Given the description of an element on the screen output the (x, y) to click on. 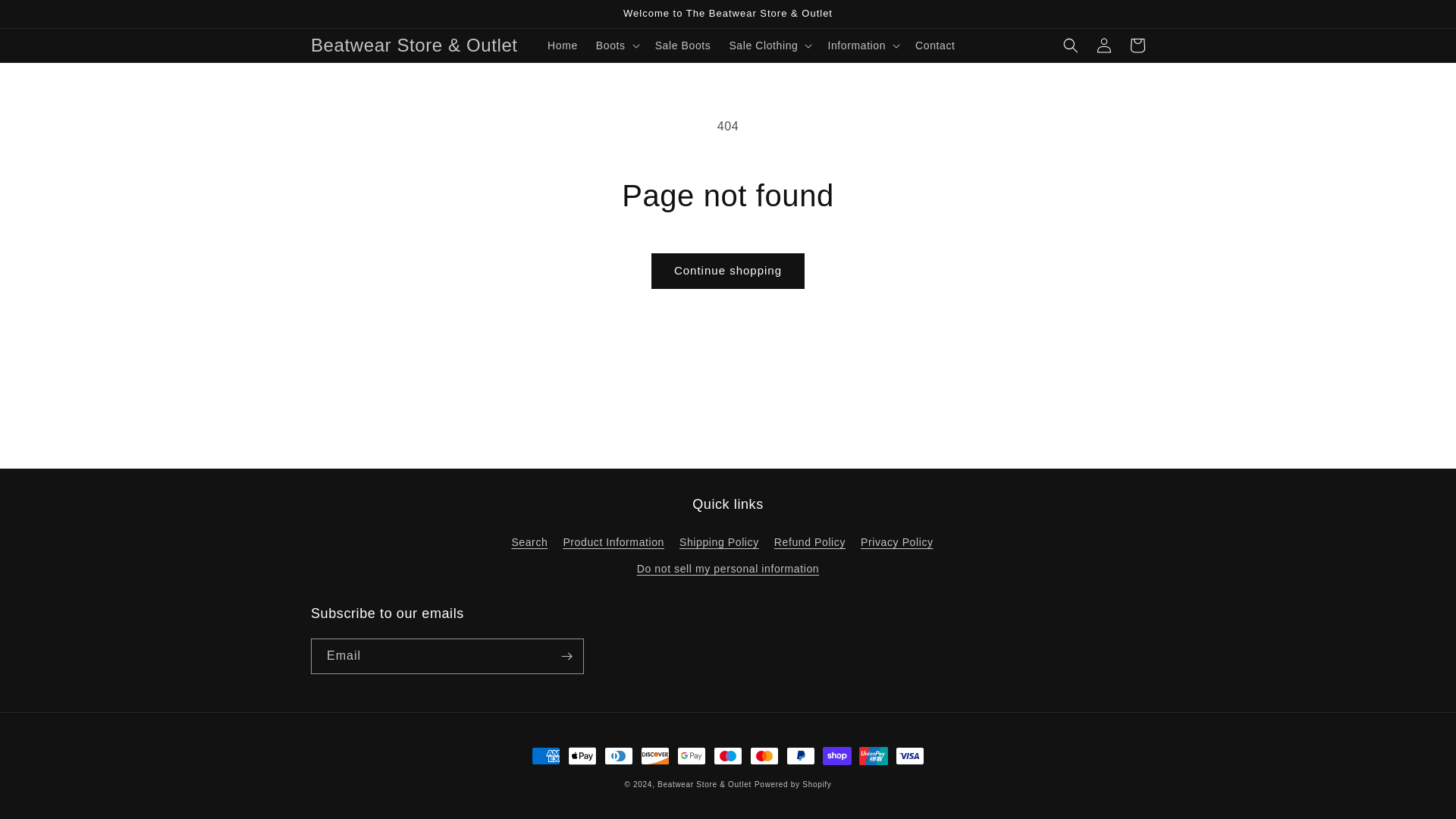
Sale Boots (683, 45)
Skip to content (45, 17)
Home (562, 45)
